Given the description of an element on the screen output the (x, y) to click on. 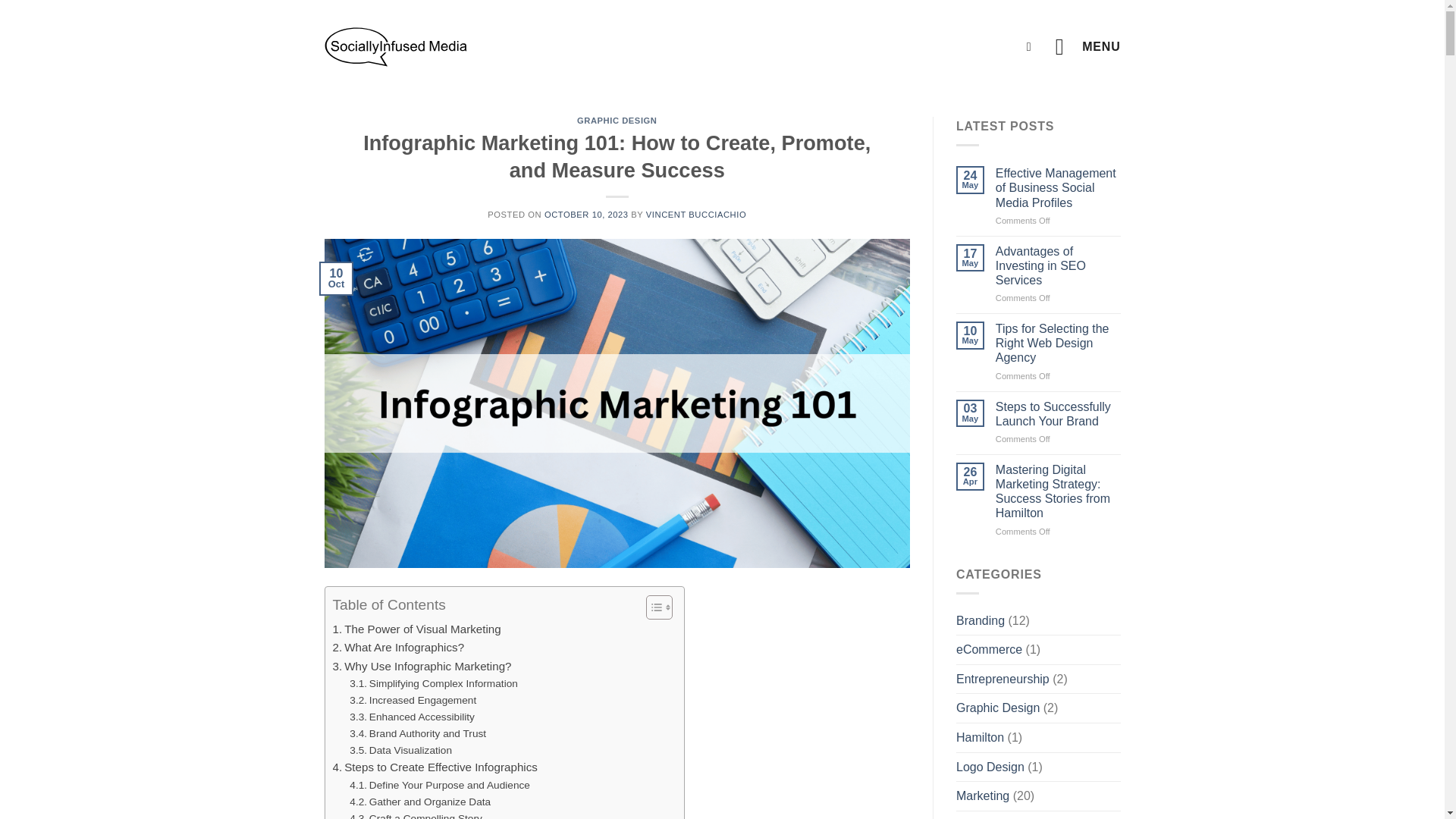
MENU (1088, 46)
Gather and Organize Data (419, 801)
What Are Infographics? (397, 647)
Craft a Compelling Story (415, 814)
Data Visualization (400, 750)
Craft a Compelling Story (415, 814)
Brand Authority and Trust (417, 733)
Enhanced Accessibility (411, 717)
What Are Infographics? (397, 647)
Data Visualization (400, 750)
Steps to Create Effective Infographics (434, 767)
Brand Authority and Trust (417, 733)
Why Use Infographic Marketing? (421, 666)
Define Your Purpose and Audience (439, 785)
The Power of Visual Marketing (415, 628)
